Given the description of an element on the screen output the (x, y) to click on. 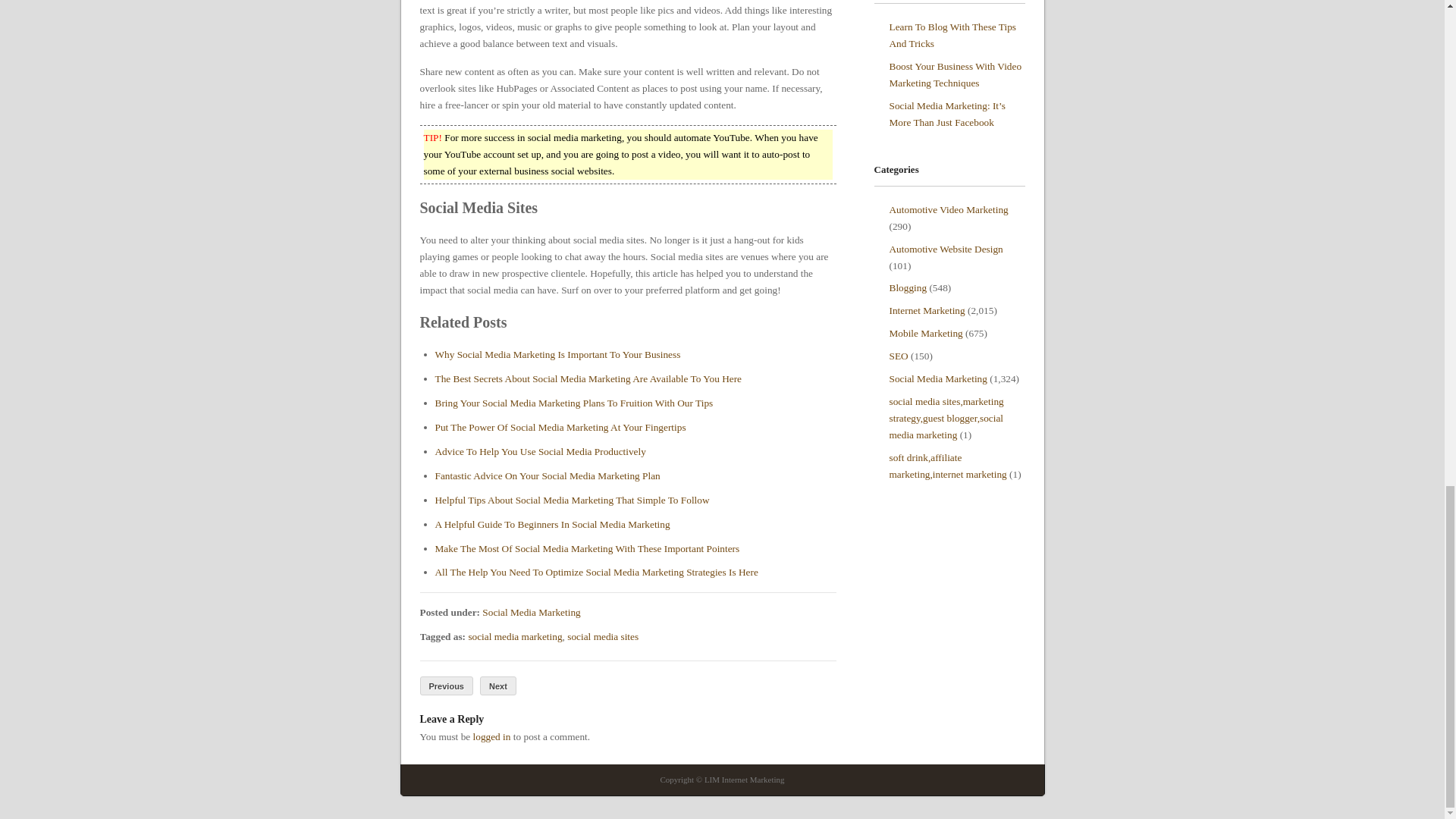
A Helpful Guide To Beginners In Social Media Marketing (552, 523)
Advice To Help You Use Social Media Productively (540, 451)
Put The Power Of Social Media Marketing At Your Fingertips (560, 427)
Fantastic Advice On Your Social Media Marketing Plan (548, 475)
logged in (492, 736)
social media sites (603, 636)
Fantastic Advice On Your Social Media Marketing Plan (548, 475)
